Given the description of an element on the screen output the (x, y) to click on. 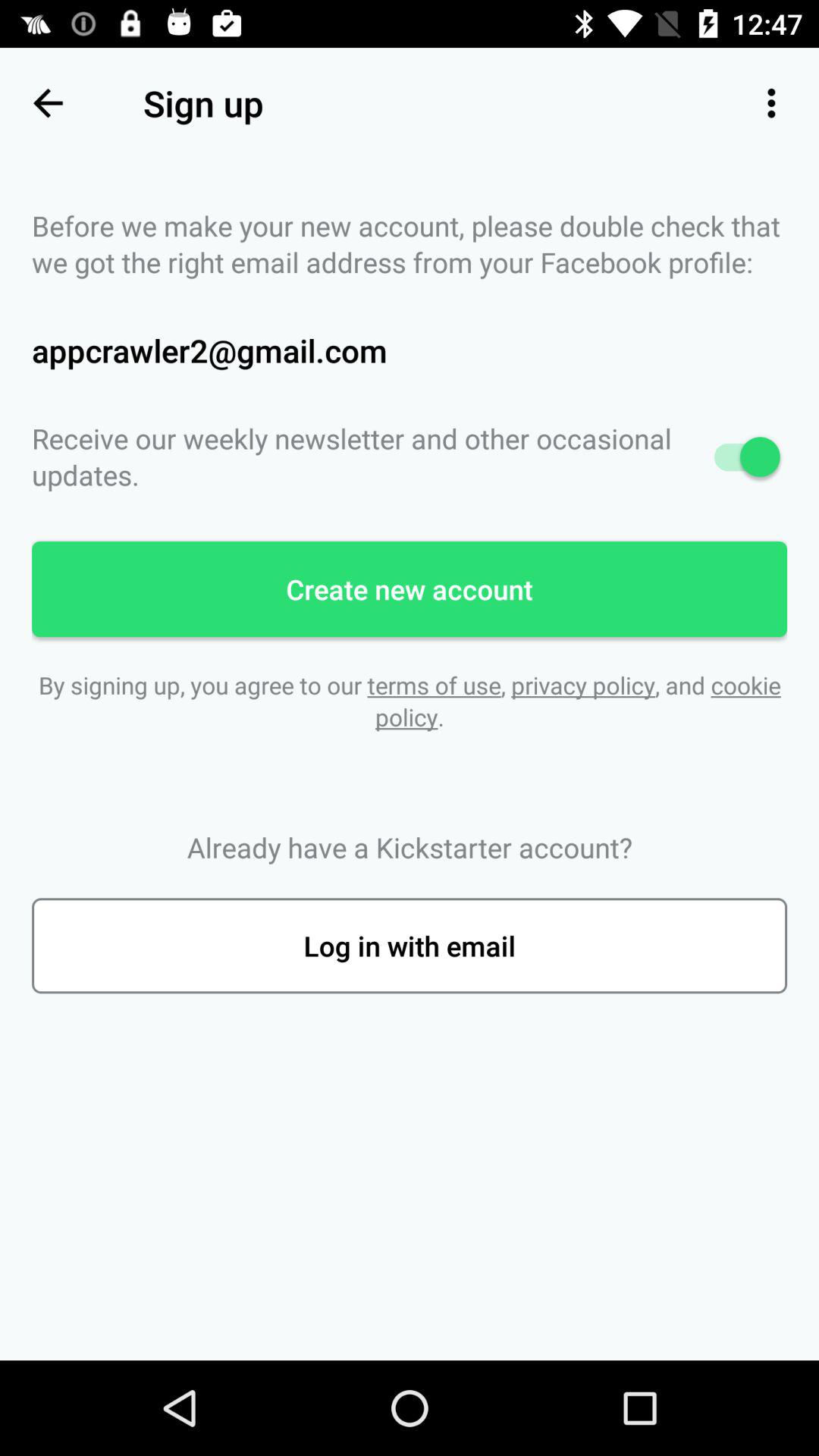
turn off the icon below the already have a item (409, 945)
